Given the description of an element on the screen output the (x, y) to click on. 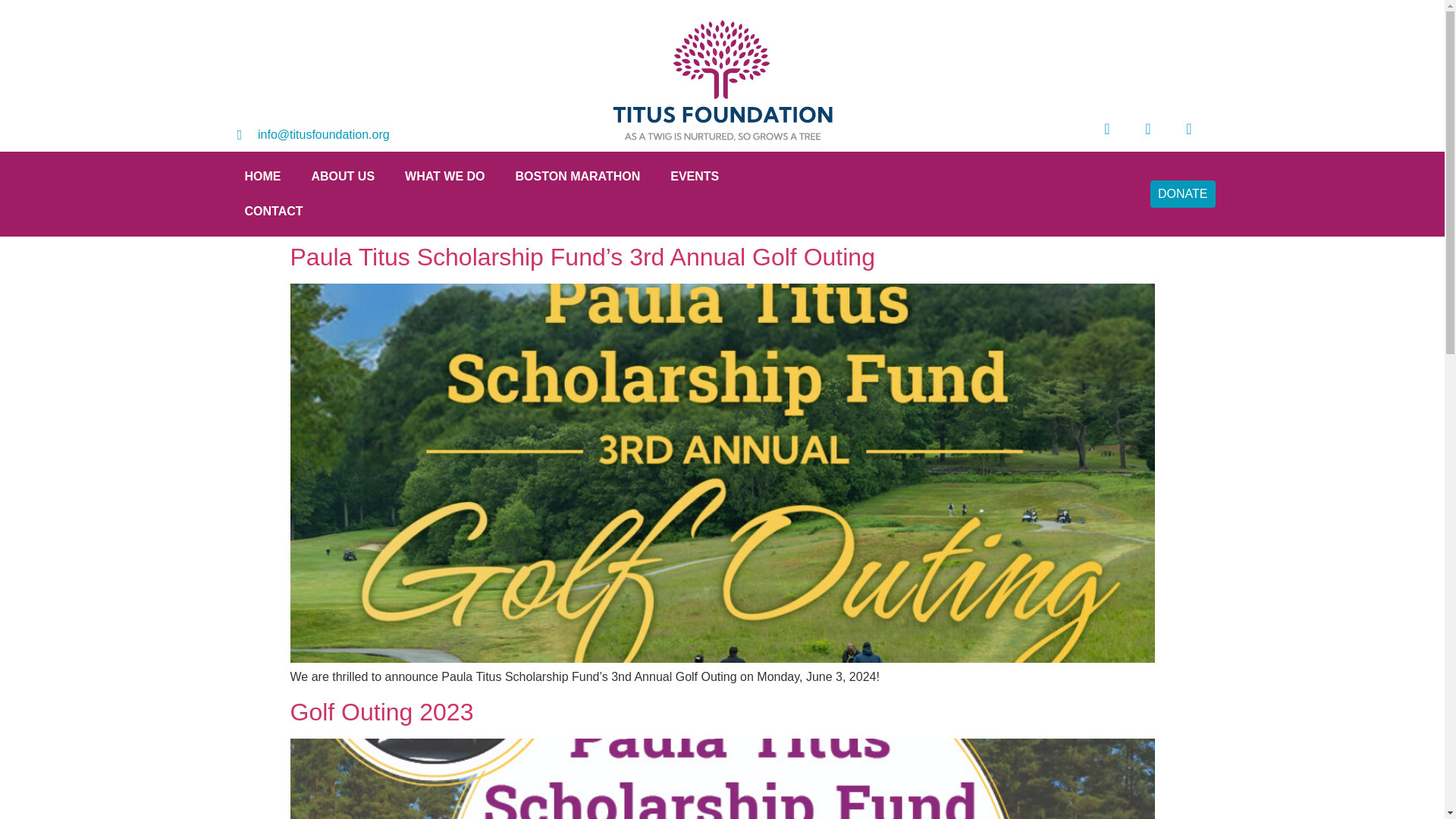
WHAT WE DO (444, 176)
EVENTS (694, 176)
CONTACT (272, 211)
ABOUT US (342, 176)
HOME (261, 176)
Golf Outing 2023 (381, 711)
DONATE (1182, 194)
BOSTON MARATHON (578, 176)
